Given the description of an element on the screen output the (x, y) to click on. 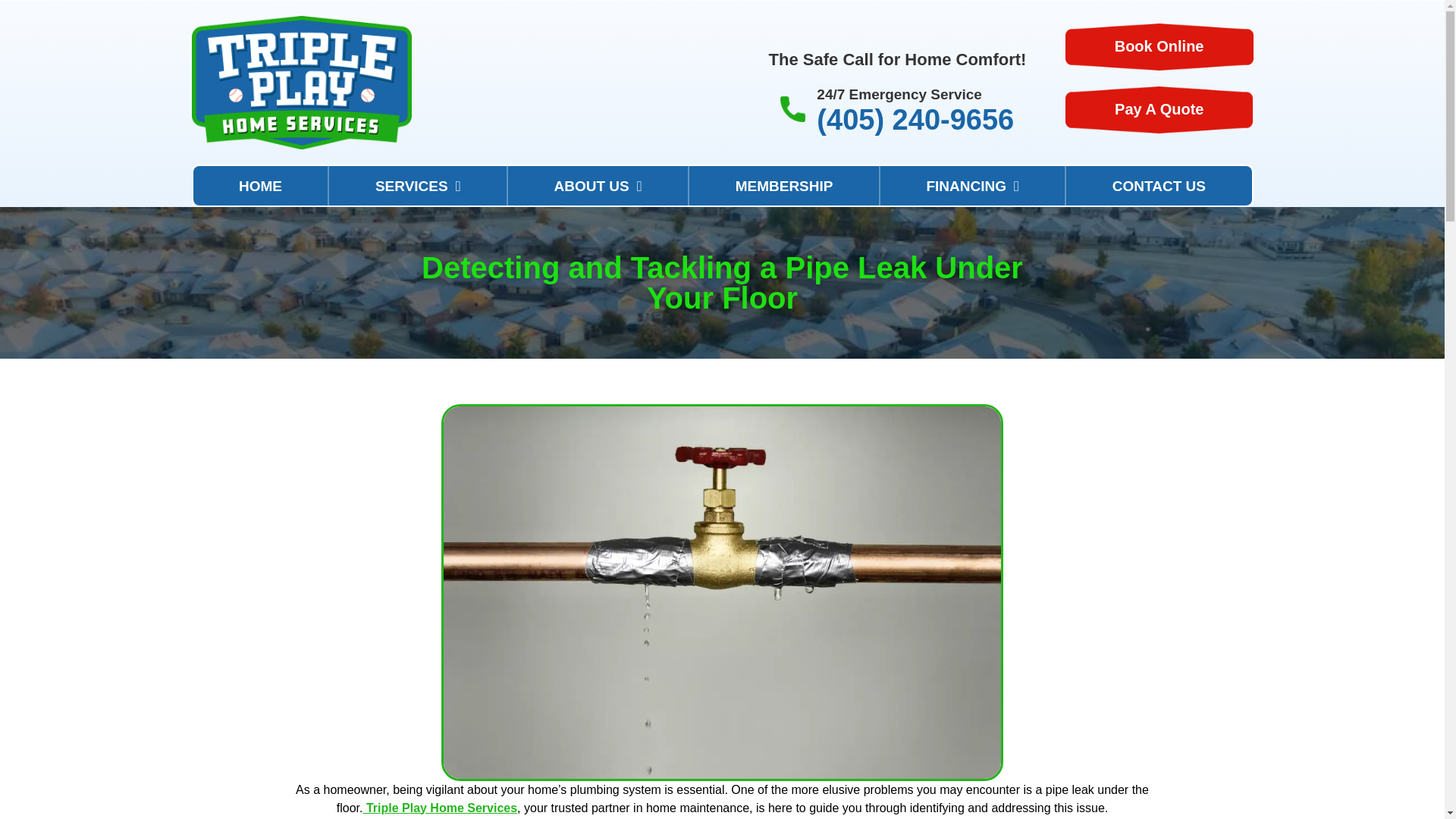
SERVICES (417, 185)
Pay A Quote (1158, 110)
HOME (259, 185)
Book Online (1159, 47)
